Given the description of an element on the screen output the (x, y) to click on. 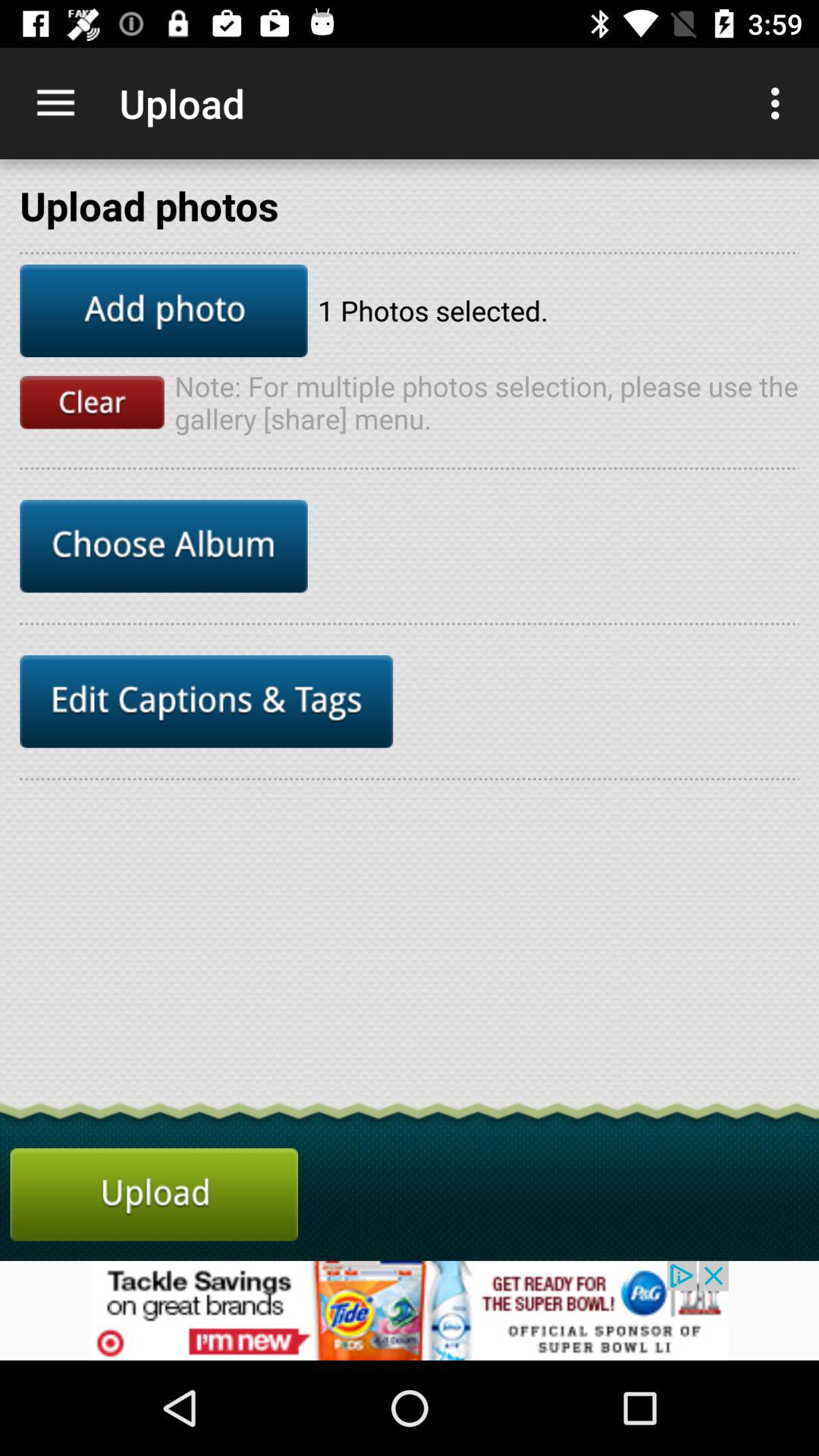
clear button (91, 401)
